Given the description of an element on the screen output the (x, y) to click on. 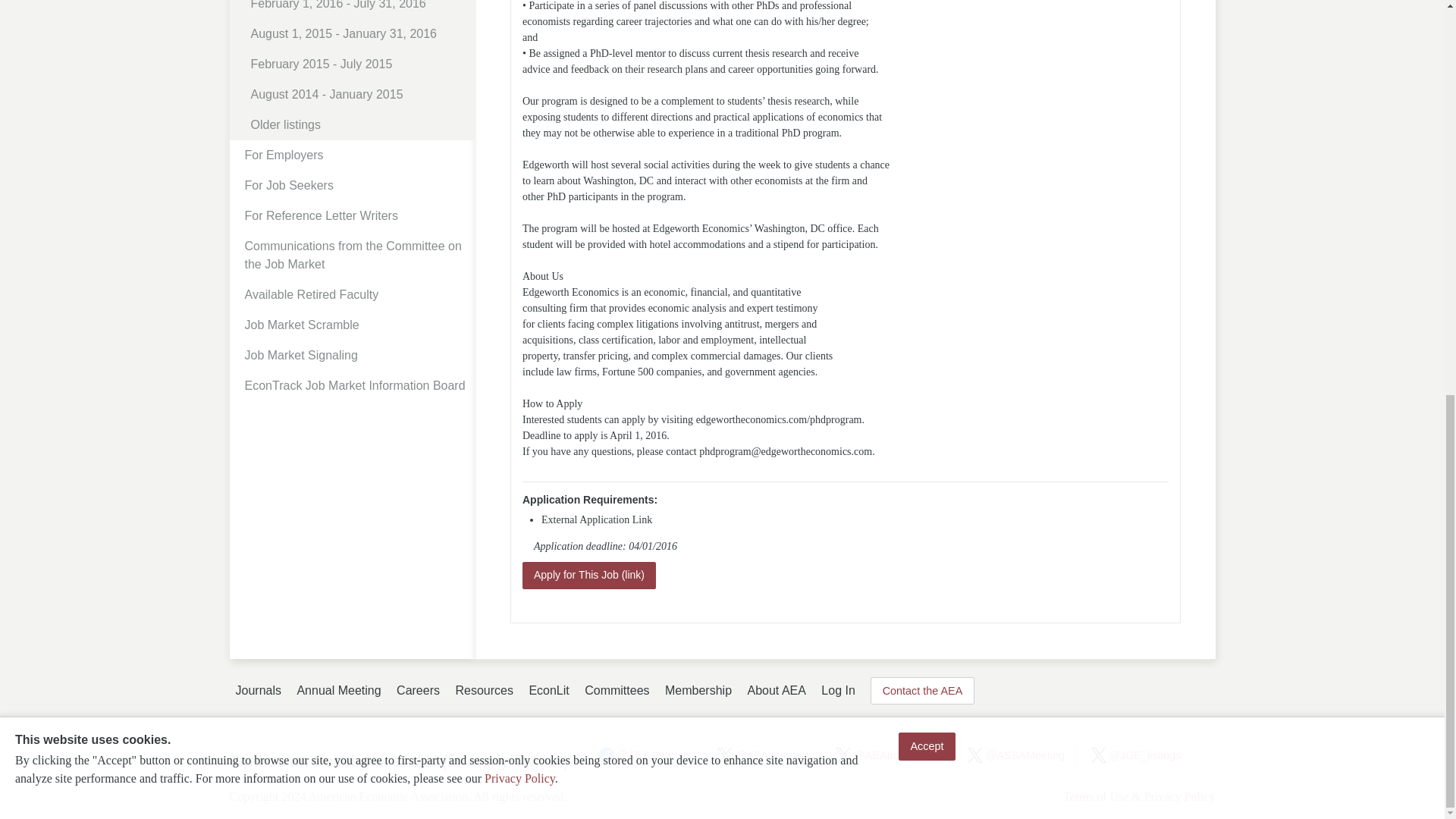
Privacy Policy (519, 15)
